Given the description of an element on the screen output the (x, y) to click on. 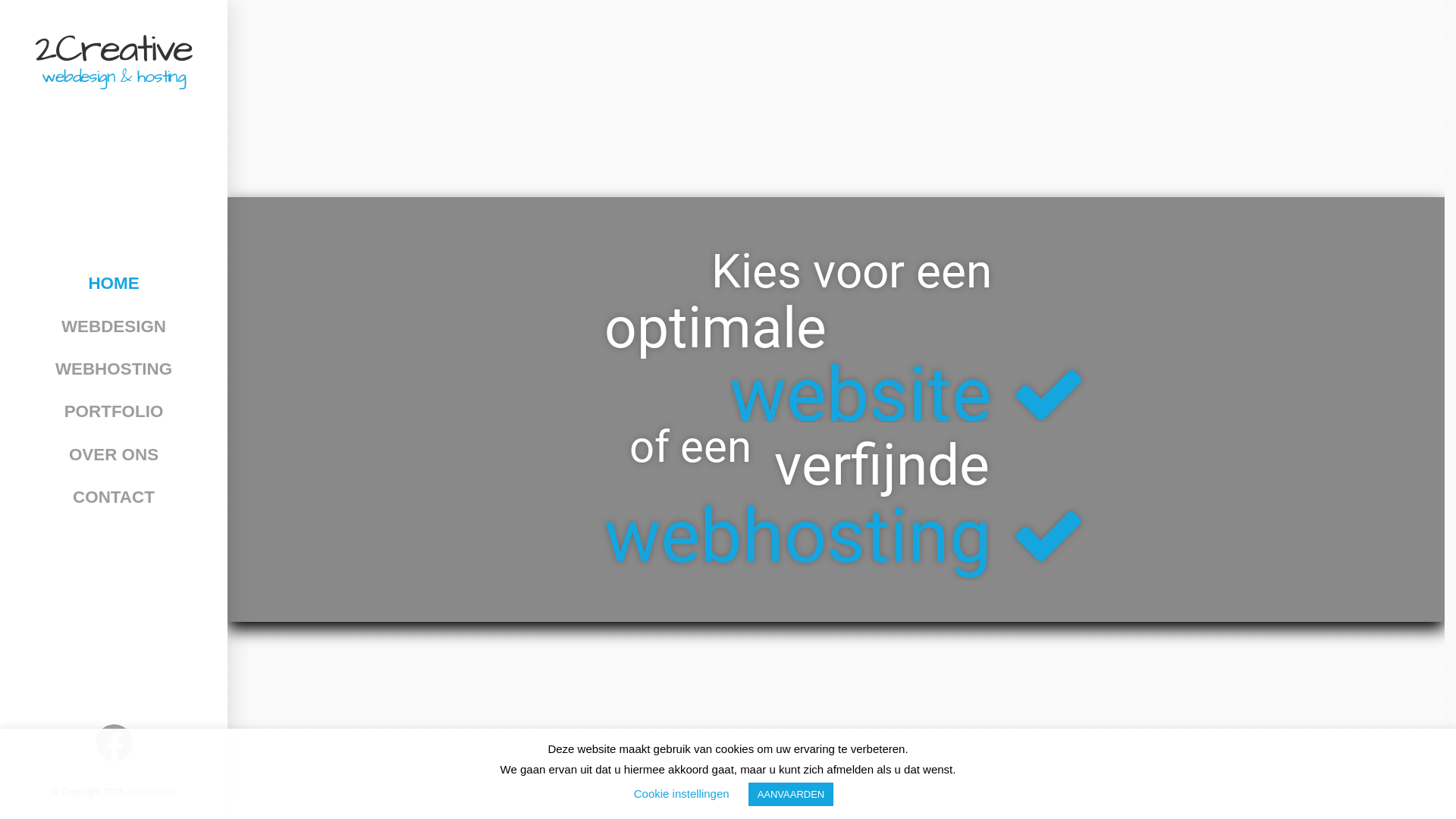
AANVAARDEN Element type: text (791, 794)
WEBDESIGN Element type: text (113, 326)
2creative.be Element type: text (150, 791)
OVER ONS Element type: text (113, 454)
WEBHOSTING Element type: text (113, 369)
CONTACT Element type: text (113, 497)
Cookie instellingen Element type: text (681, 793)
PORTFOLIO Element type: text (113, 411)
HOME Element type: text (113, 283)
